Given the description of an element on the screen output the (x, y) to click on. 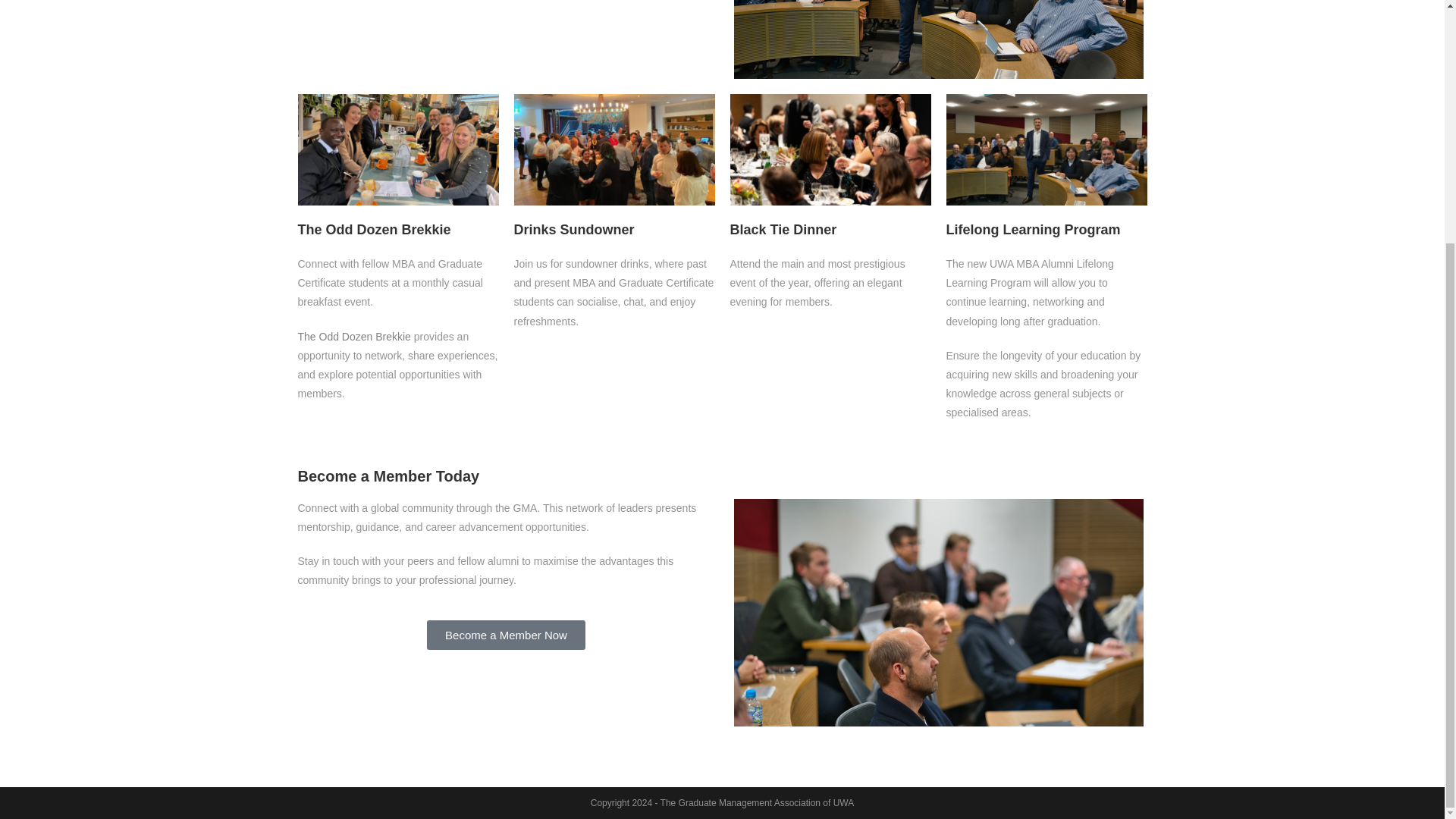
Become a Member Now (505, 634)
